Given the description of an element on the screen output the (x, y) to click on. 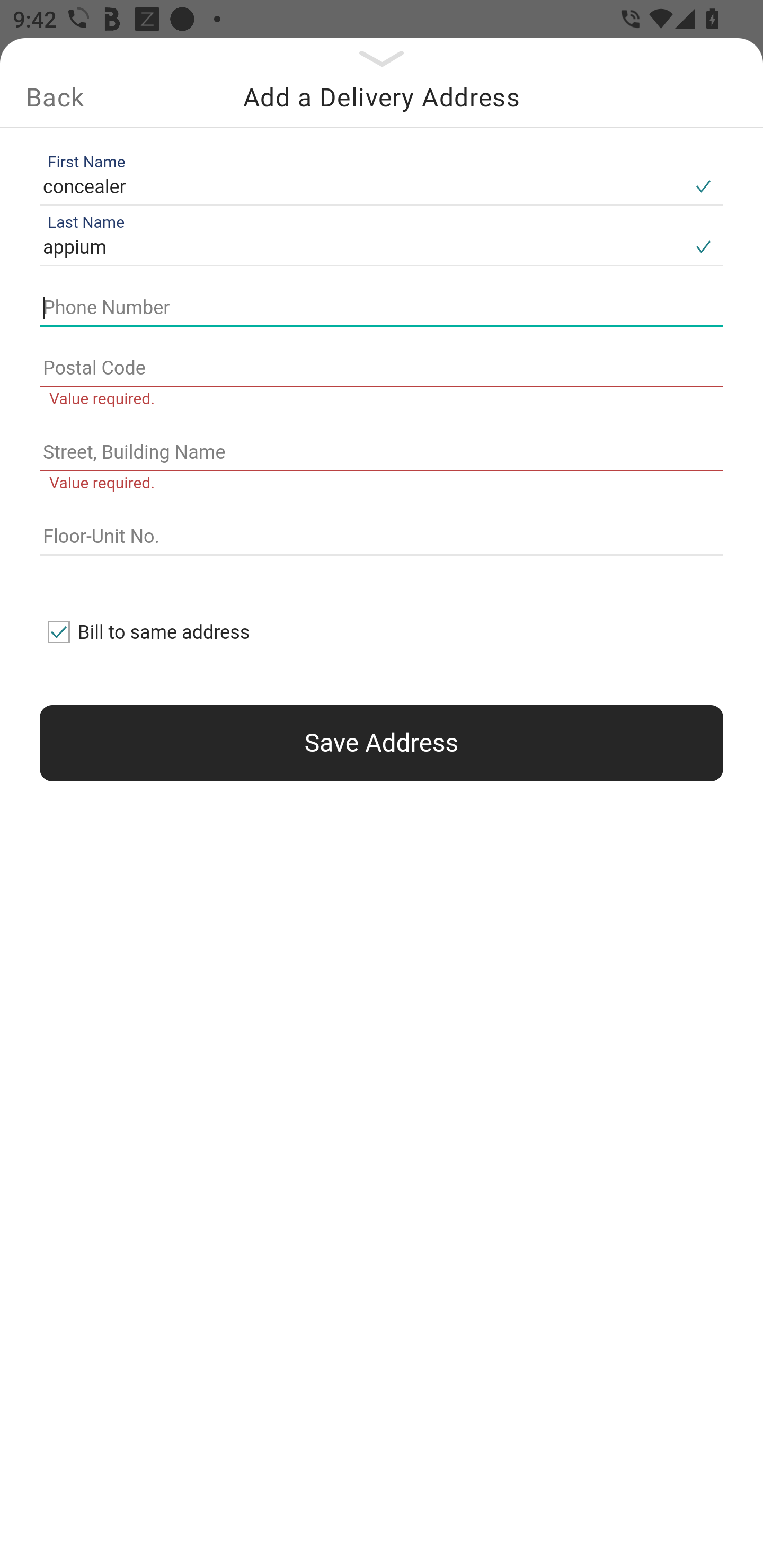
Back (54, 96)
Add a Delivery Address (381, 96)
concealer (361, 186)
appium (361, 247)
Save Address (381, 742)
